Given the description of an element on the screen output the (x, y) to click on. 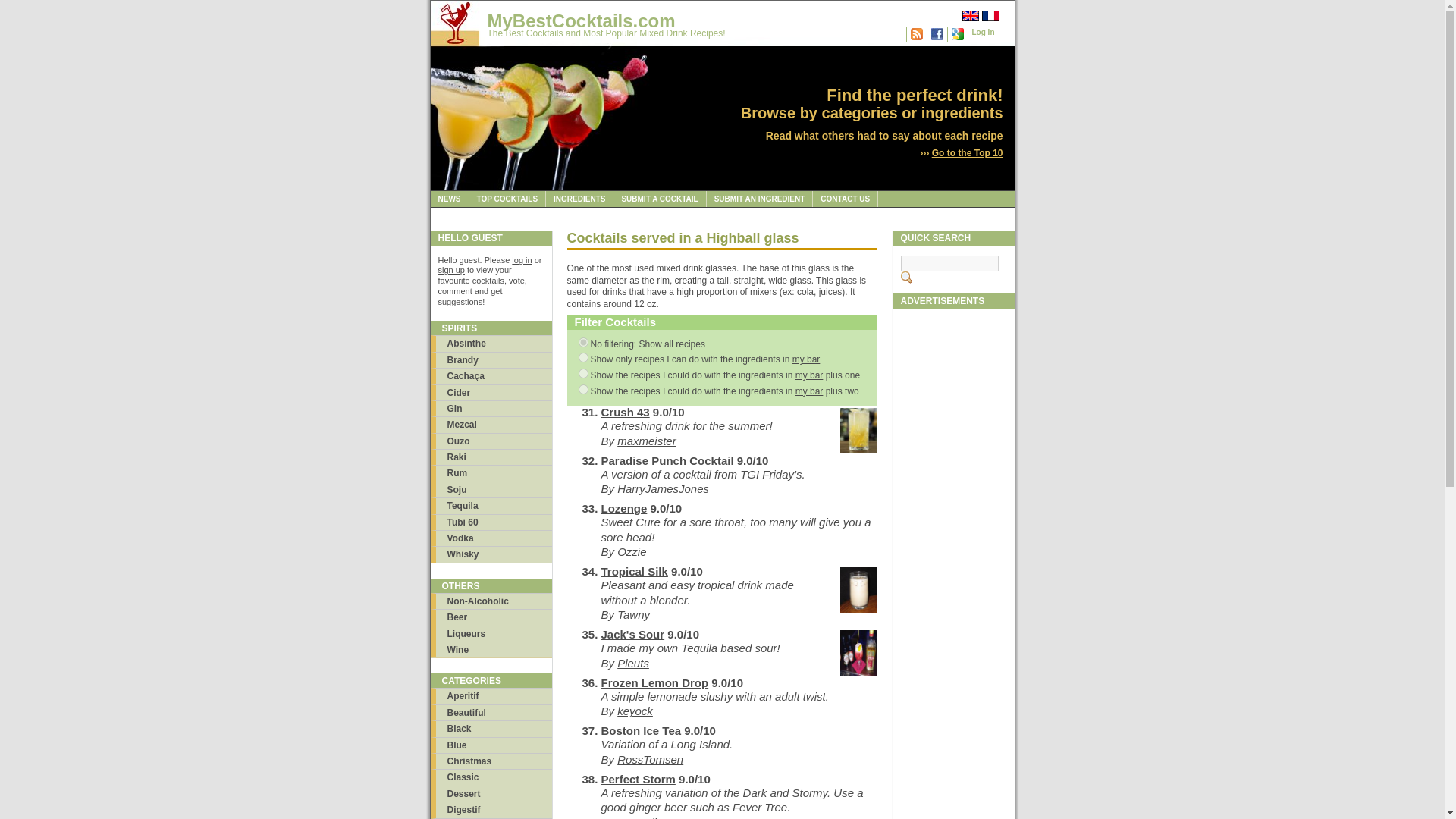
Brandy (490, 359)
Cider (490, 392)
Whisky (490, 553)
Ouzo (490, 440)
SUBMIT AN INGREDIENT (759, 198)
Advertisement (953, 795)
Liqueurs (490, 633)
Christmas (490, 760)
Rum (490, 472)
Raki (490, 456)
